Given the description of an element on the screen output the (x, y) to click on. 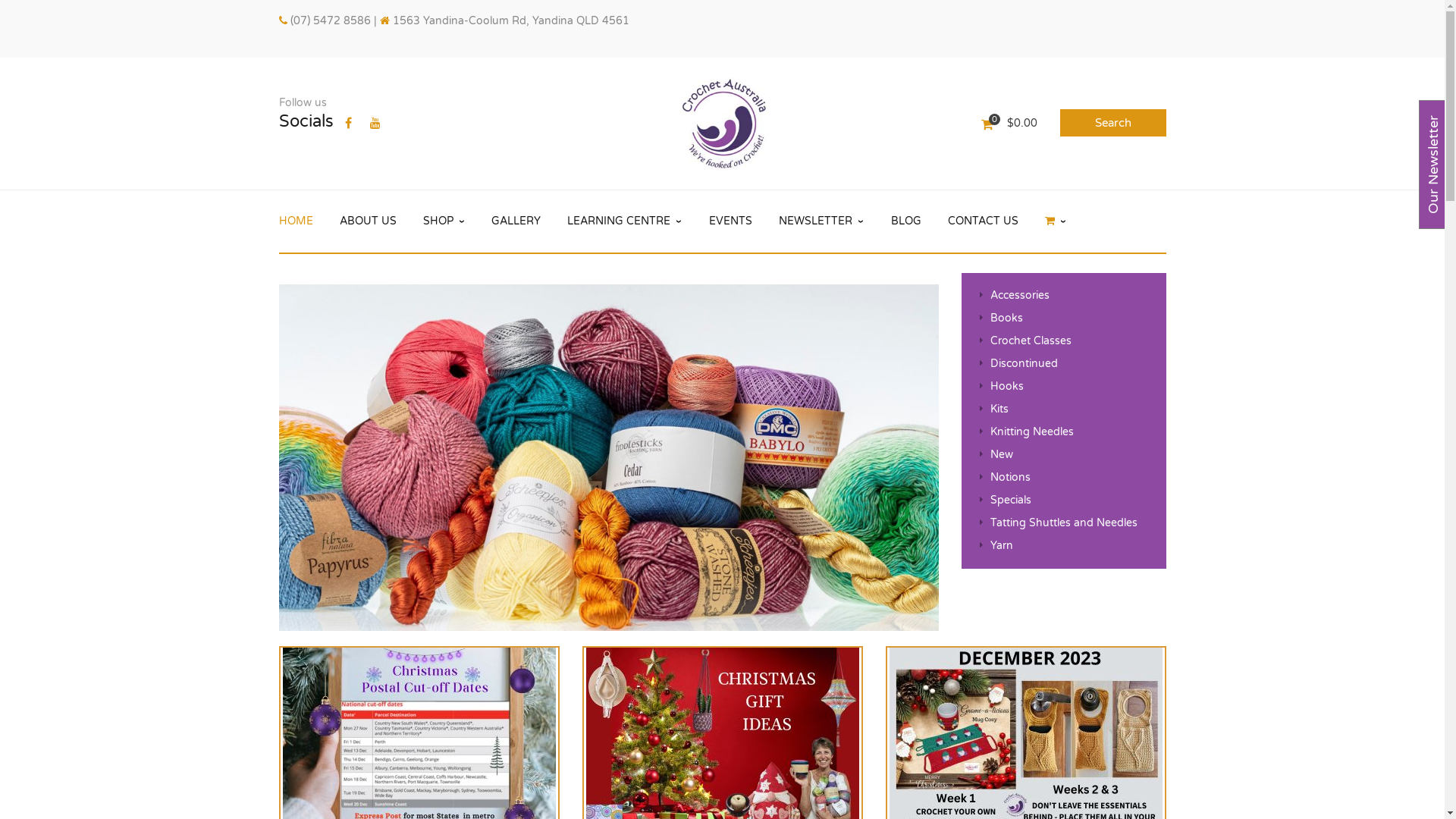
Specials Element type: text (1005, 500)
Kits Element type: text (993, 409)
NEWSLETTER Element type: text (820, 221)
BLOG Element type: text (906, 221)
Hooks Element type: text (1001, 386)
Accessories Element type: text (1014, 295)
Yarn Element type: text (996, 545)
Knitting Needles Element type: text (1026, 431)
EVENTS Element type: text (730, 221)
Tatting Shuttles and Needles Element type: text (1058, 522)
New Element type: text (996, 454)
Search Element type: text (1113, 122)
CONTACT US Element type: text (982, 221)
LEARNING CENTRE Element type: text (624, 221)
Notions Element type: text (1004, 477)
SHOP Element type: text (443, 221)
Discontinued Element type: text (1018, 363)
Books Element type: text (1000, 318)
GALLERY Element type: text (515, 221)
Crochet Classes Element type: text (1025, 340)
ABOUT US Element type: text (367, 221)
 | Crochet Australia Element type: hover (608, 457)
HOME Element type: text (296, 221)
